Given the description of an element on the screen output the (x, y) to click on. 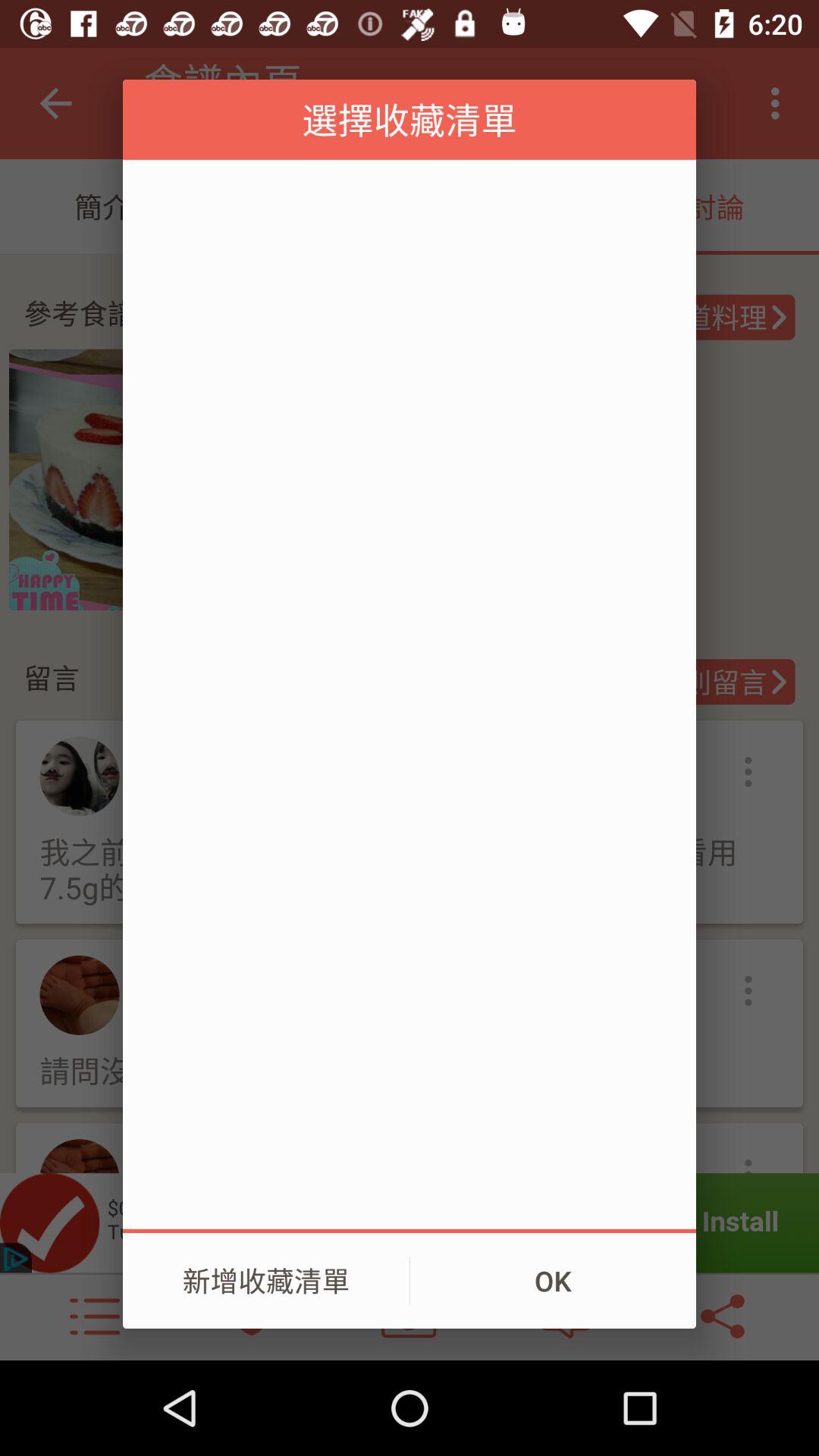
open the icon at the bottom right corner (553, 1280)
